Given the description of an element on the screen output the (x, y) to click on. 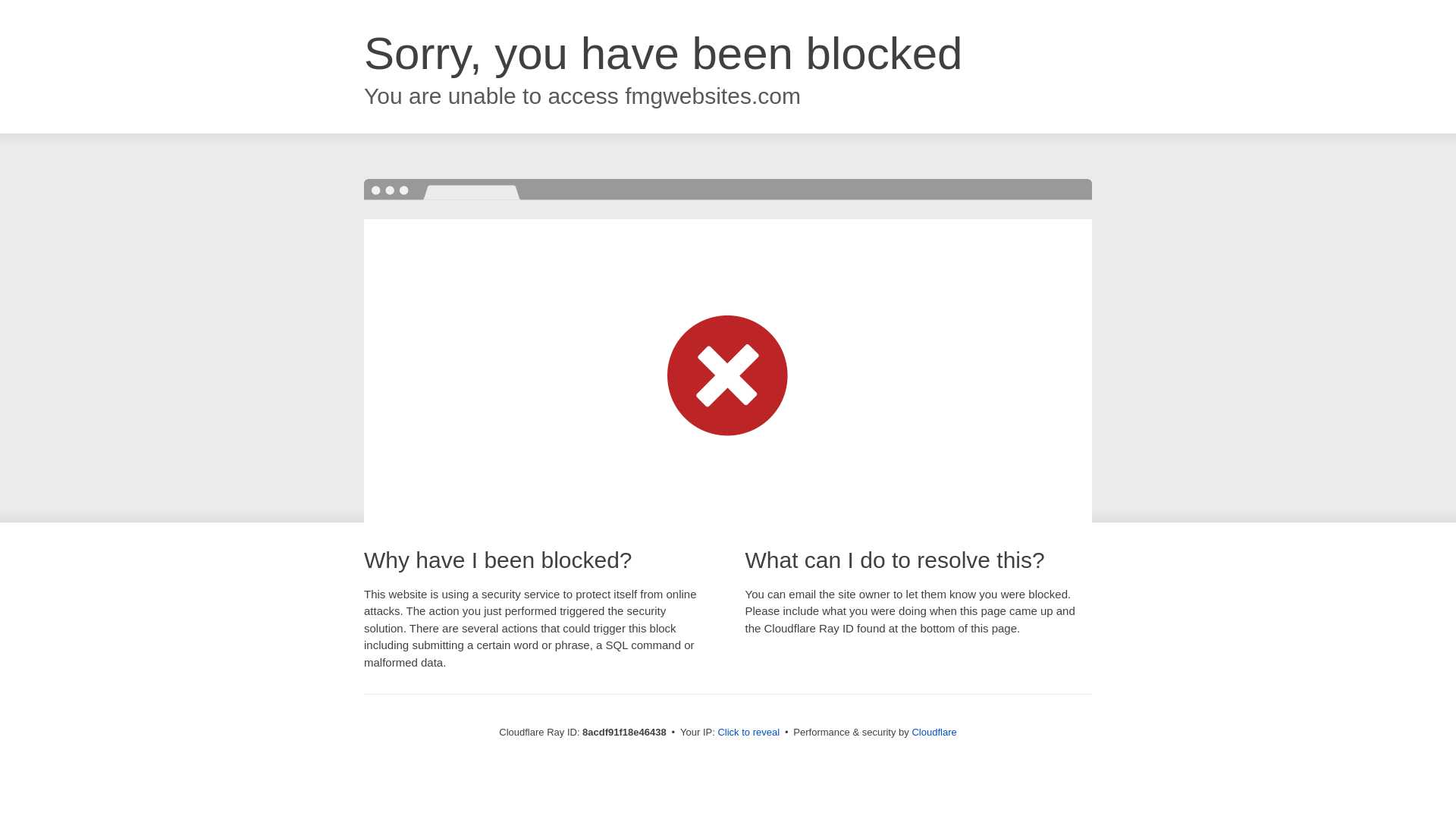
Click to reveal (747, 732)
Cloudflare (933, 731)
